Given the description of an element on the screen output the (x, y) to click on. 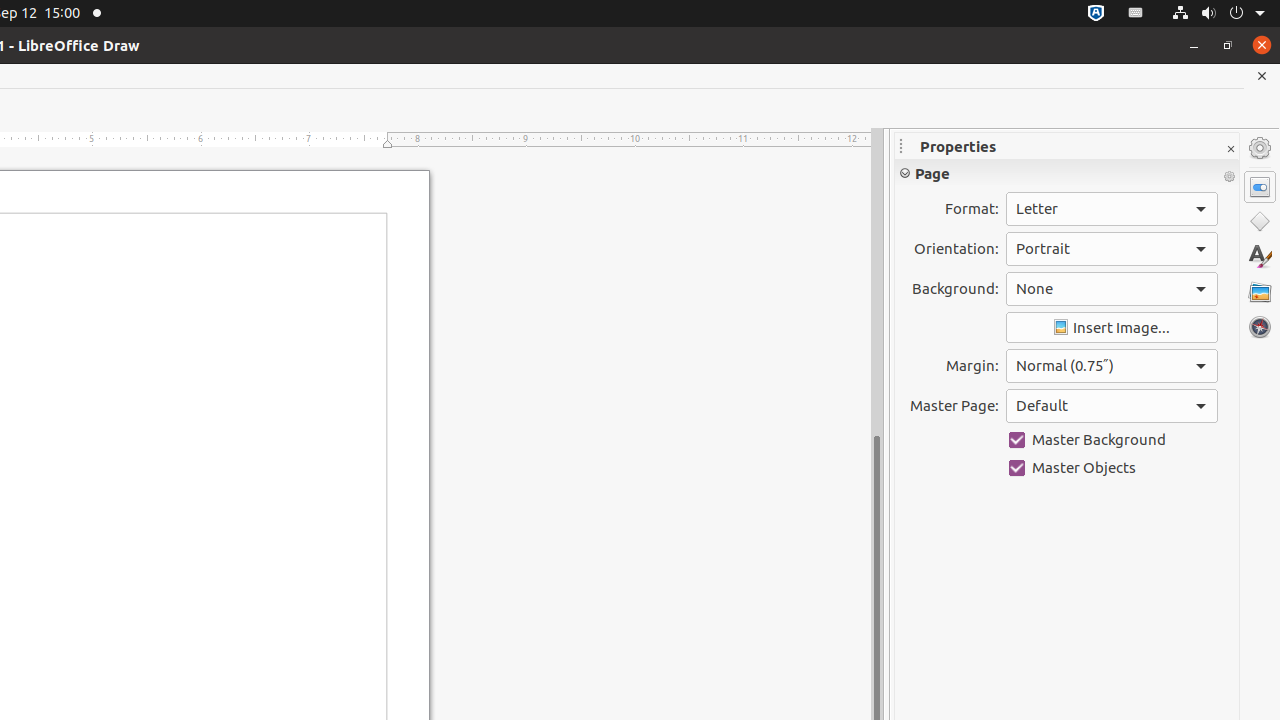
Format: Element type: combo-box (1112, 209)
Close Sidebar Deck Element type: push-button (1230, 149)
Margin: Element type: combo-box (1112, 366)
Insert Image Element type: push-button (1112, 327)
Orientation: Element type: combo-box (1112, 249)
